Given the description of an element on the screen output the (x, y) to click on. 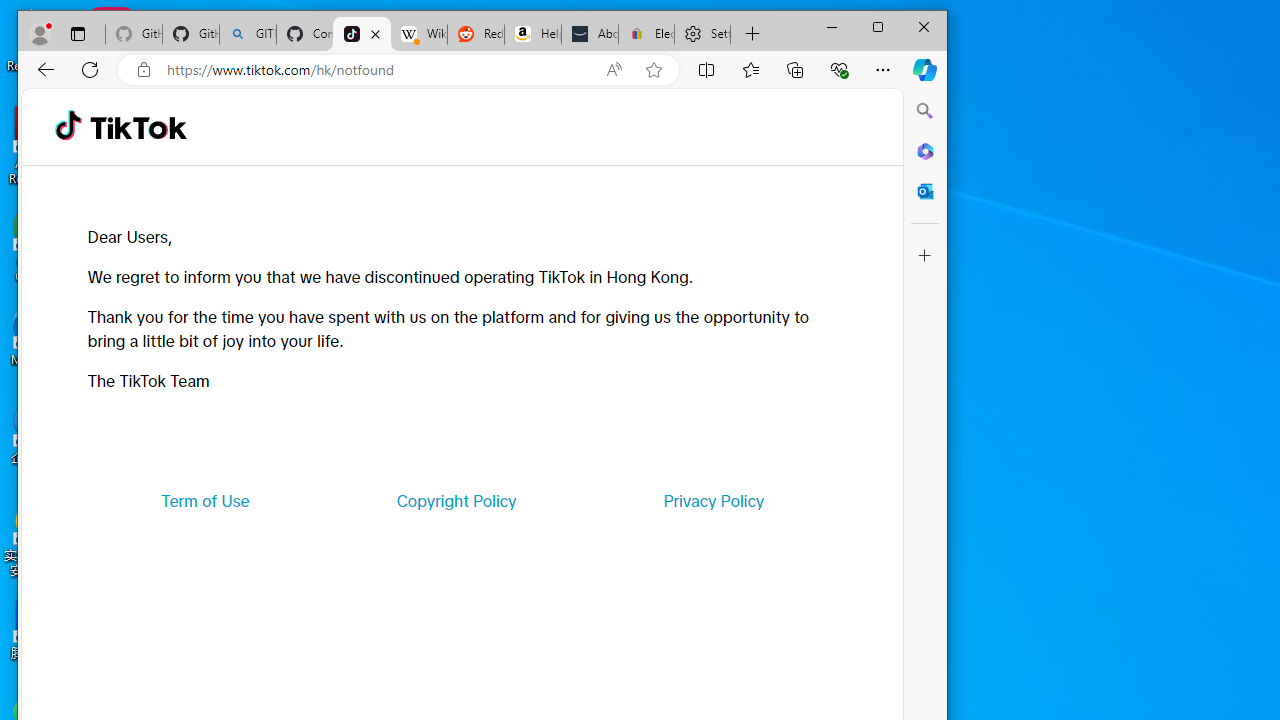
Maximize (878, 26)
Privacy Policy (713, 500)
GITHUB - Search (248, 34)
About Amazon (589, 34)
